Given the description of an element on the screen output the (x, y) to click on. 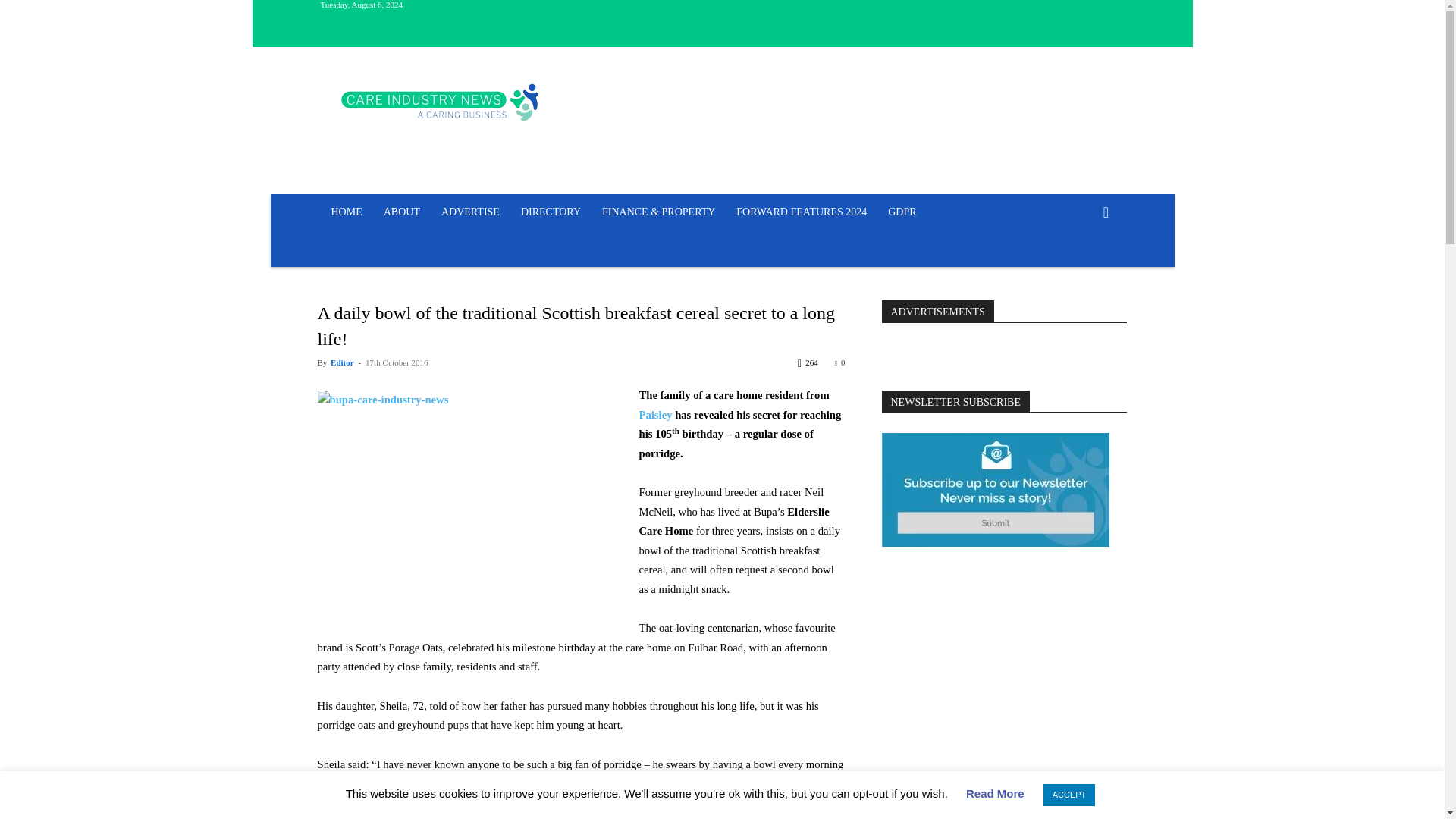
GDPR (901, 212)
0 (839, 361)
HOME (346, 212)
Paisley (655, 414)
health (399, 783)
ABOUT (401, 212)
Care Industry News (439, 101)
FORWARD FEATURES 2024 (801, 212)
DIRECTORY (551, 212)
Editor (341, 361)
